Given the description of an element on the screen output the (x, y) to click on. 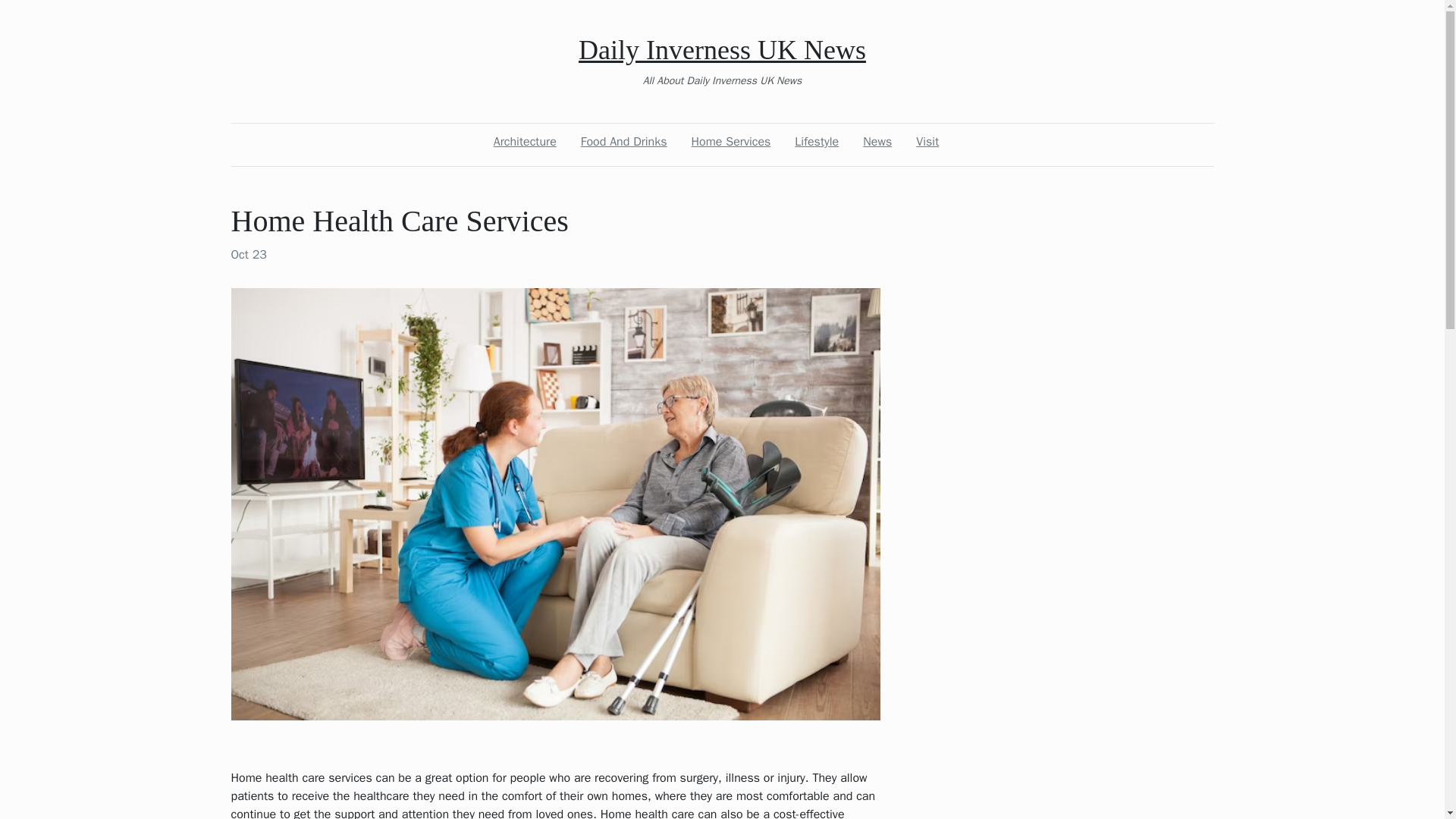
Food And Drinks (623, 141)
Lifestyle (816, 141)
Architecture (524, 141)
Home Services (731, 141)
Daily Inverness UK News (722, 50)
Visit (927, 141)
News (877, 141)
